Given the description of an element on the screen output the (x, y) to click on. 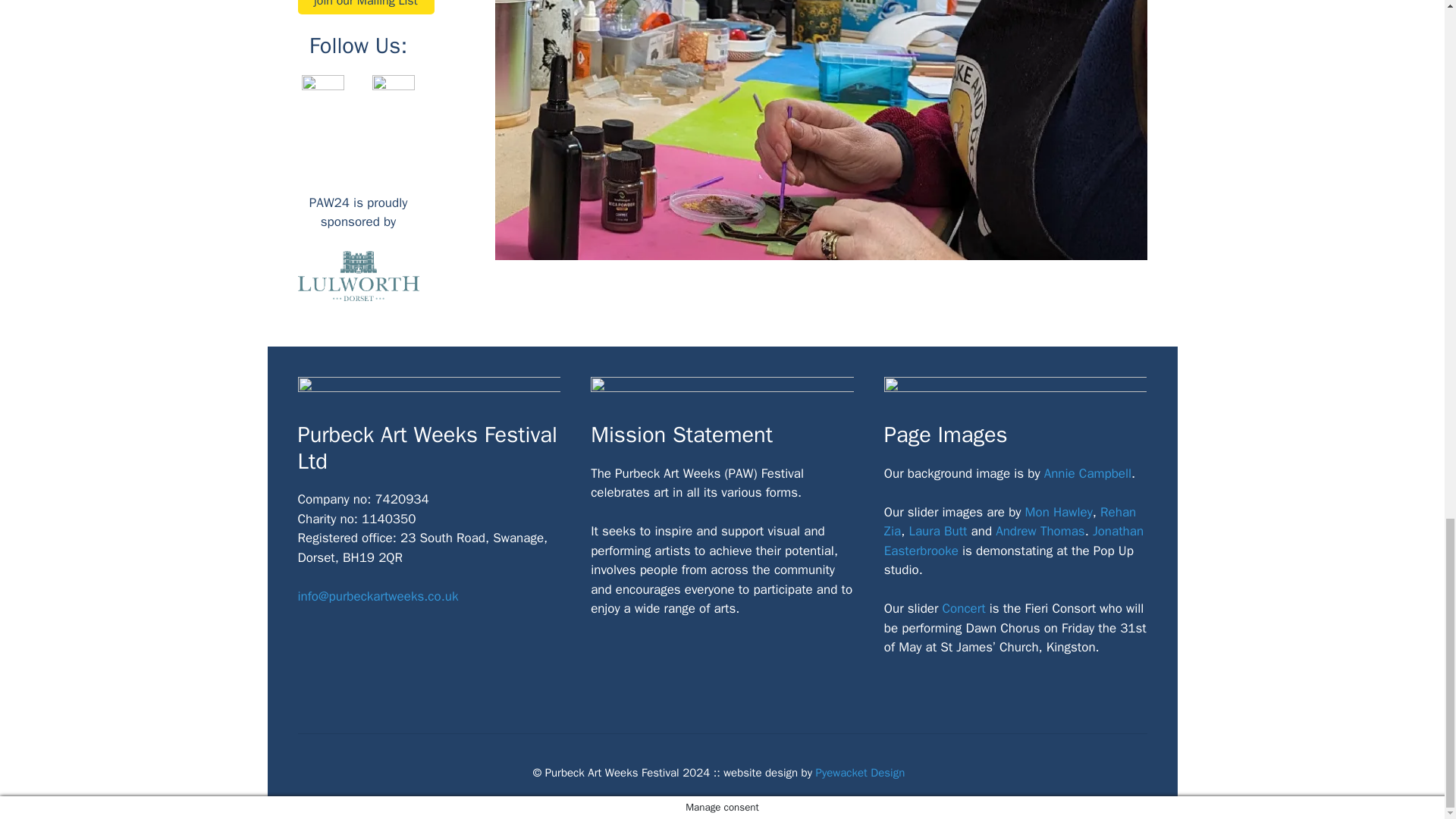
join our Mailing List (365, 7)
Scroll back to top (1406, 100)
